Given the description of an element on the screen output the (x, y) to click on. 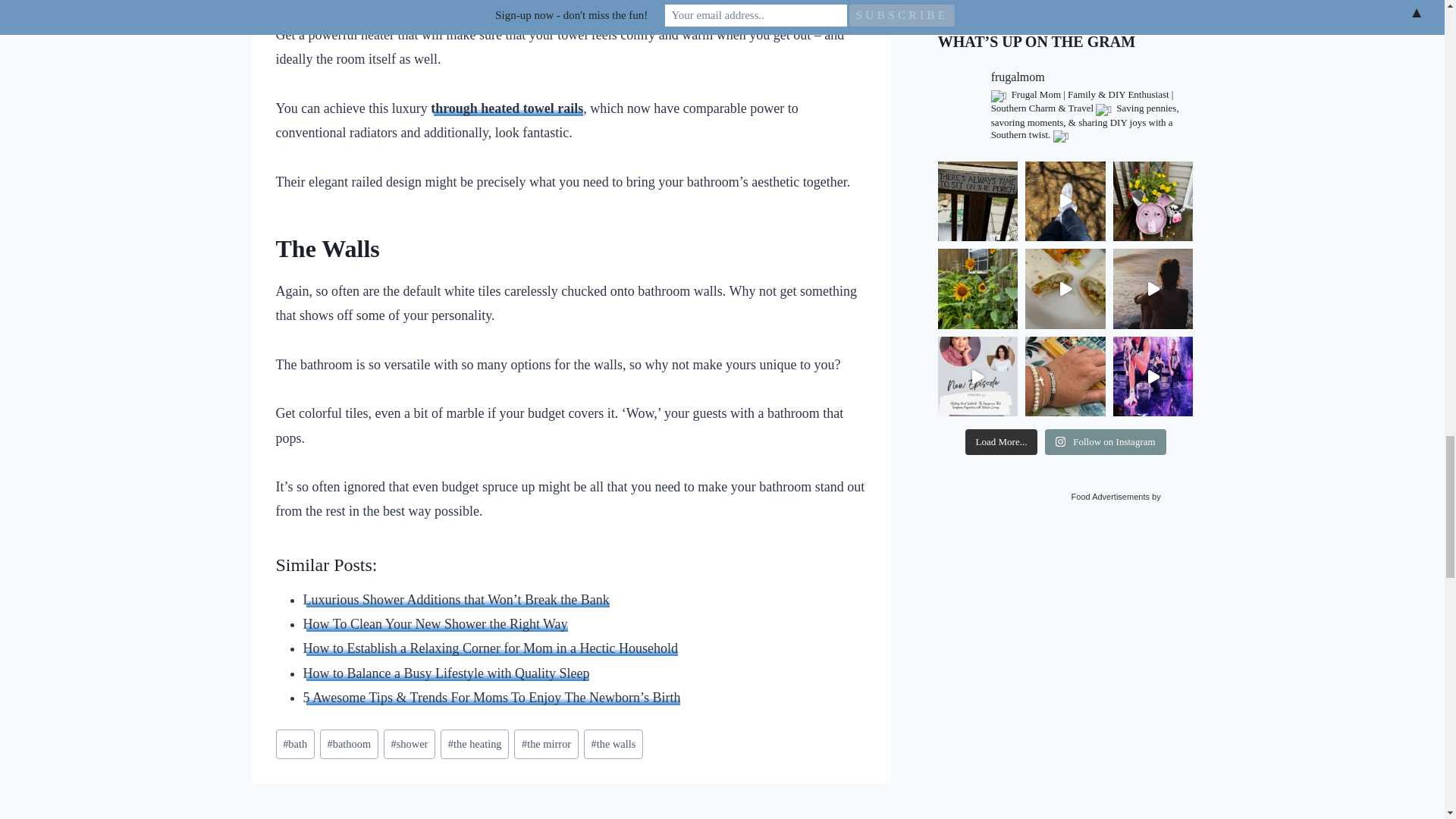
How To Clean Your New Shower the Right Way (434, 623)
shower (409, 744)
bathoom (349, 744)
the heating (474, 744)
bath (295, 744)
How to Balance a Busy Lifestyle with Quality Sleep (445, 672)
the walls (613, 744)
the mirror (545, 744)
